Given the description of an element on the screen output the (x, y) to click on. 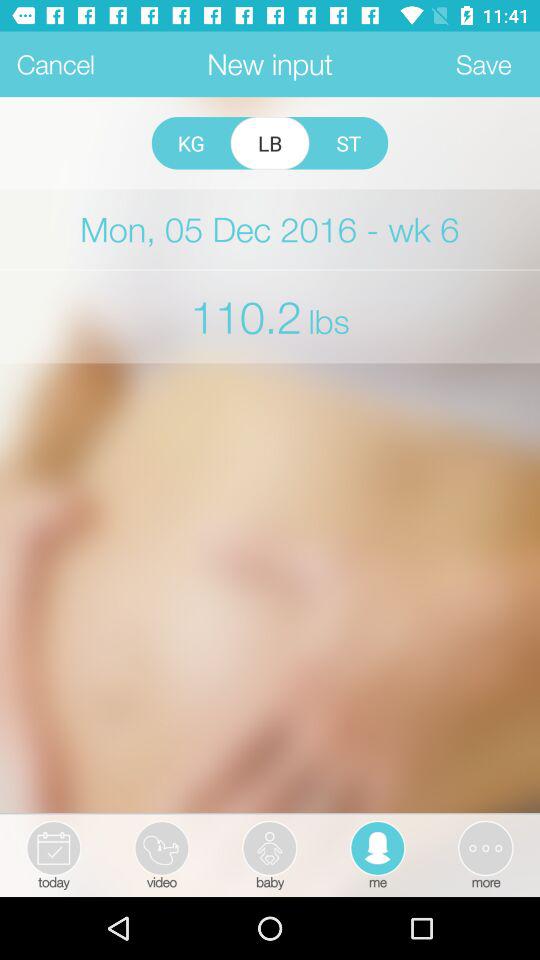
press item above the mon 05 dec icon (269, 143)
